Given the description of an element on the screen output the (x, y) to click on. 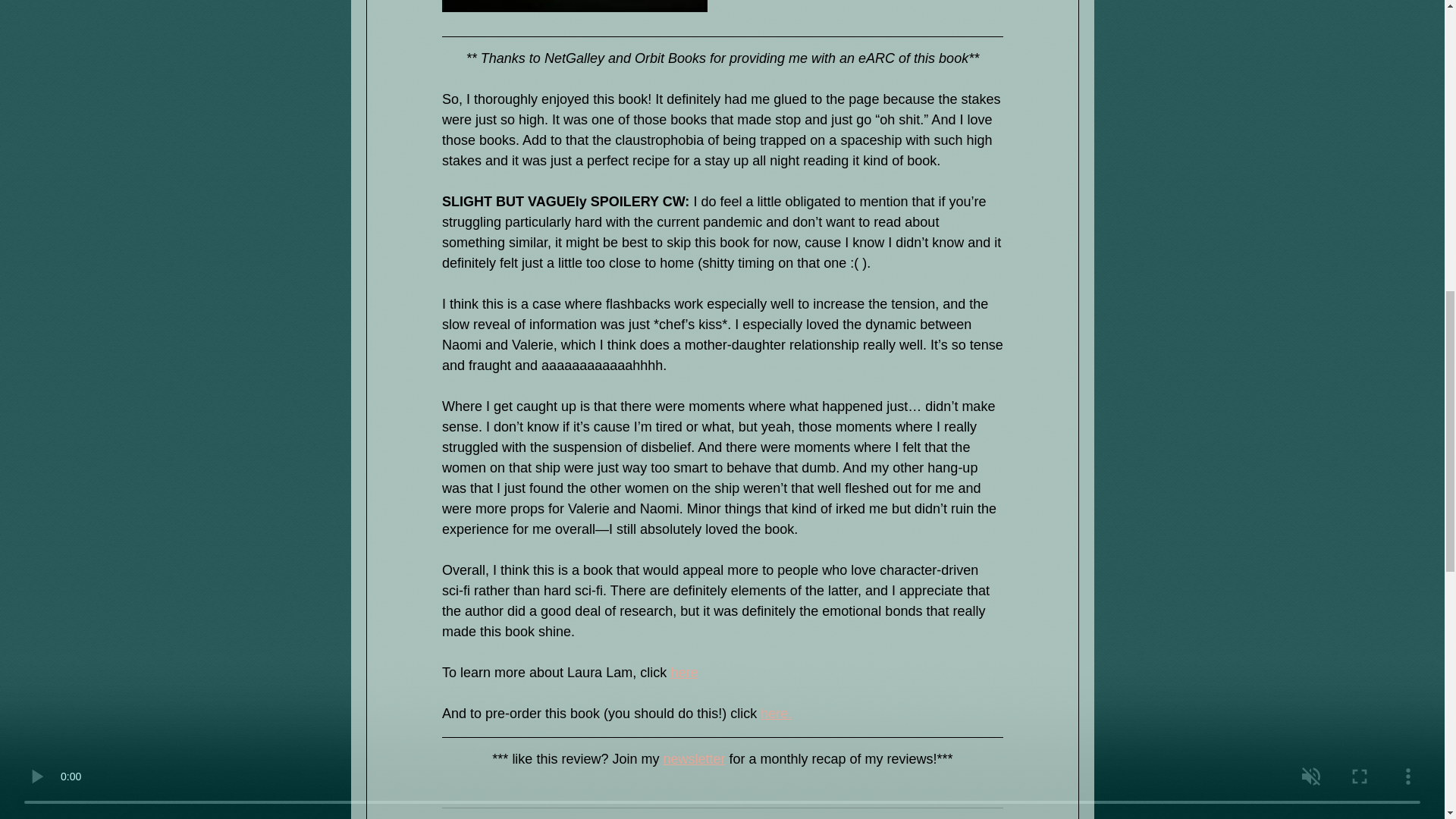
newsletter (693, 758)
here. (776, 713)
here (683, 672)
